Given the description of an element on the screen output the (x, y) to click on. 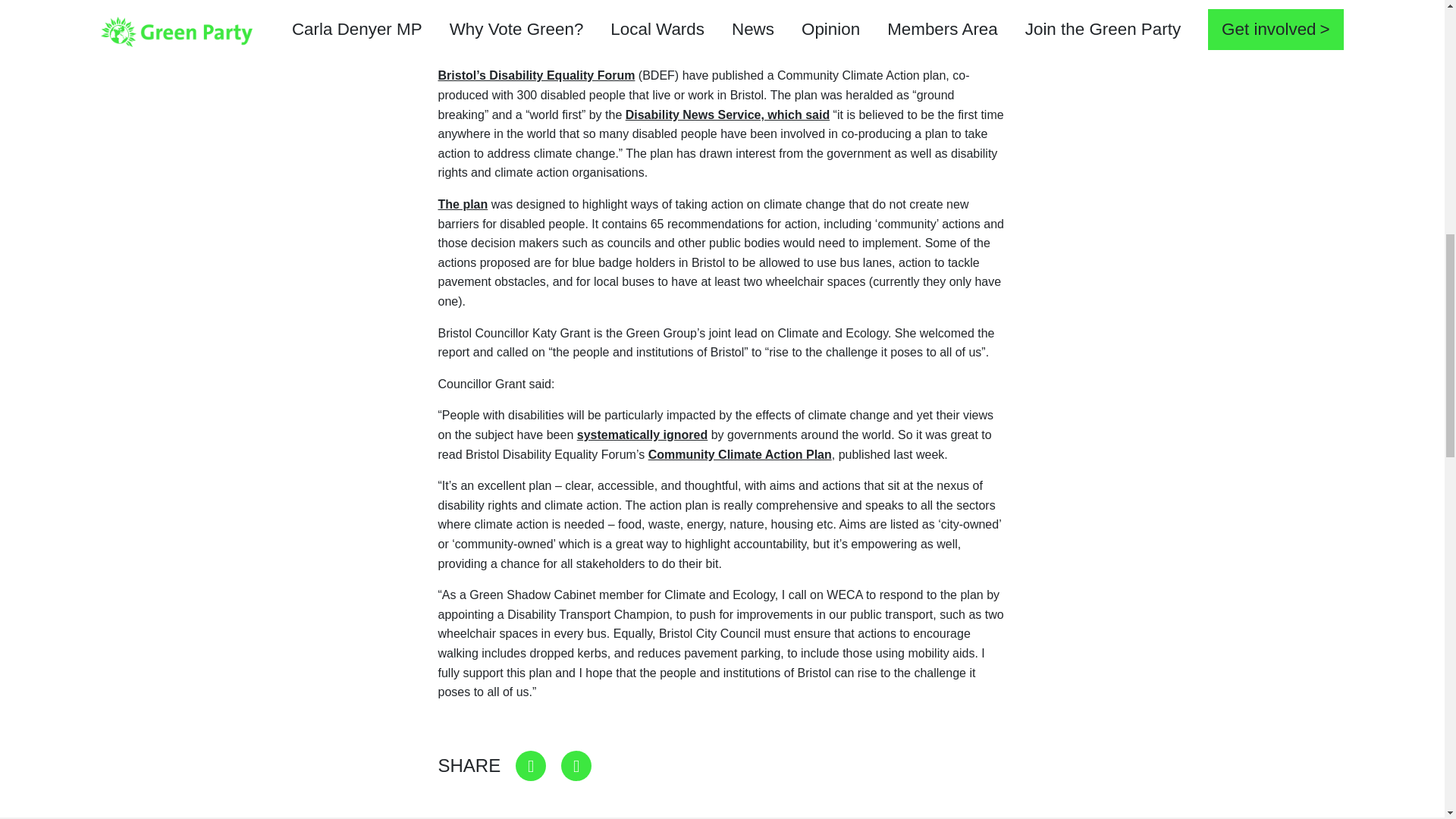
Disability News Service, which said (727, 114)
The plan (462, 204)
Community Climate Action Plan (739, 454)
systematically ignored (641, 434)
